Given the description of an element on the screen output the (x, y) to click on. 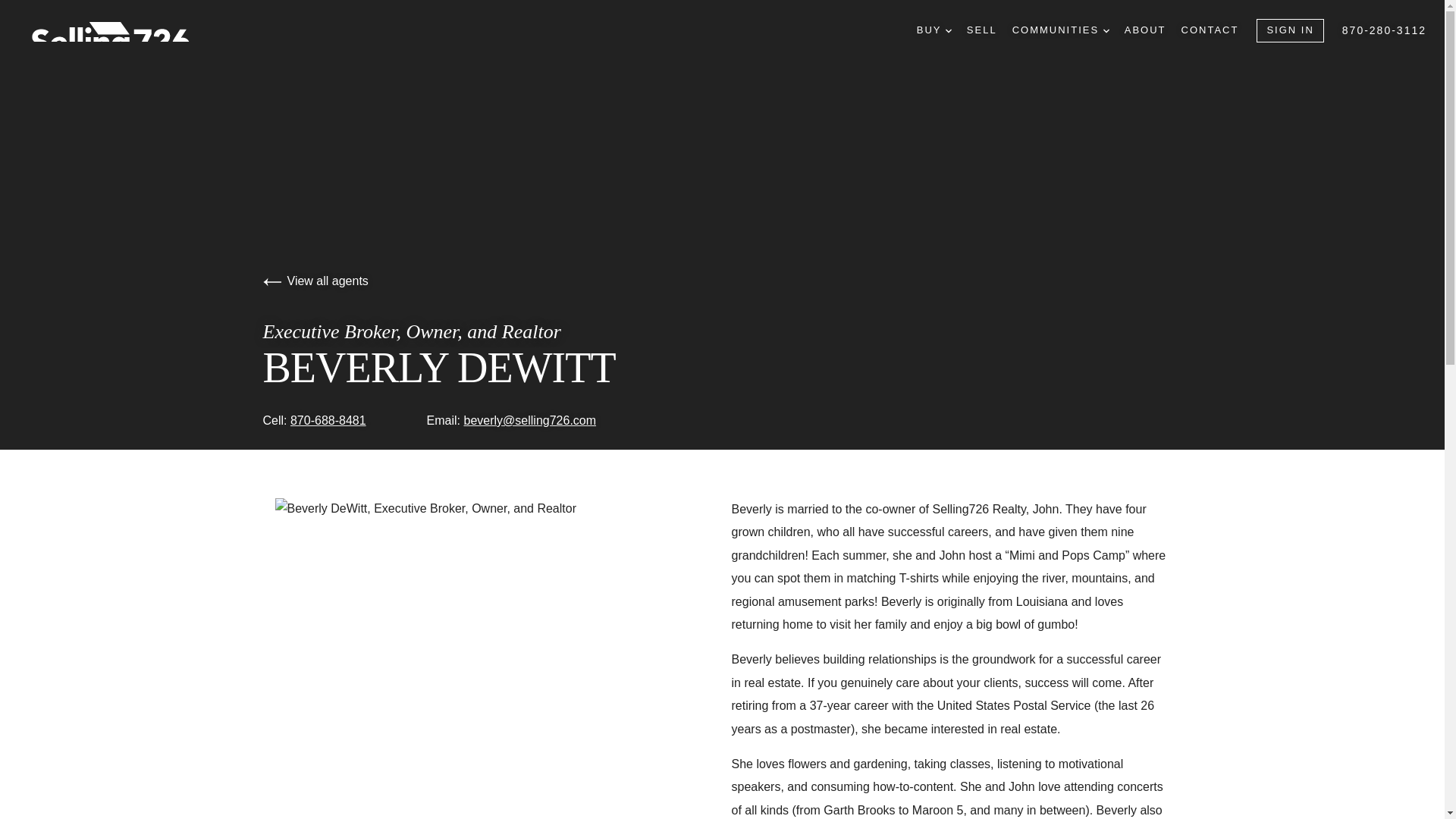
Arrow left View all agents (315, 280)
DROPDOWN ARROW (1106, 30)
BUY DROPDOWN ARROW (934, 30)
Arrow left (271, 281)
870-688-8481 (327, 420)
SIGN IN (1289, 30)
ABOUT (1145, 30)
DROPDOWN ARROW (948, 30)
SELL (981, 30)
COMMUNITIES DROPDOWN ARROW (1060, 30)
